Given the description of an element on the screen output the (x, y) to click on. 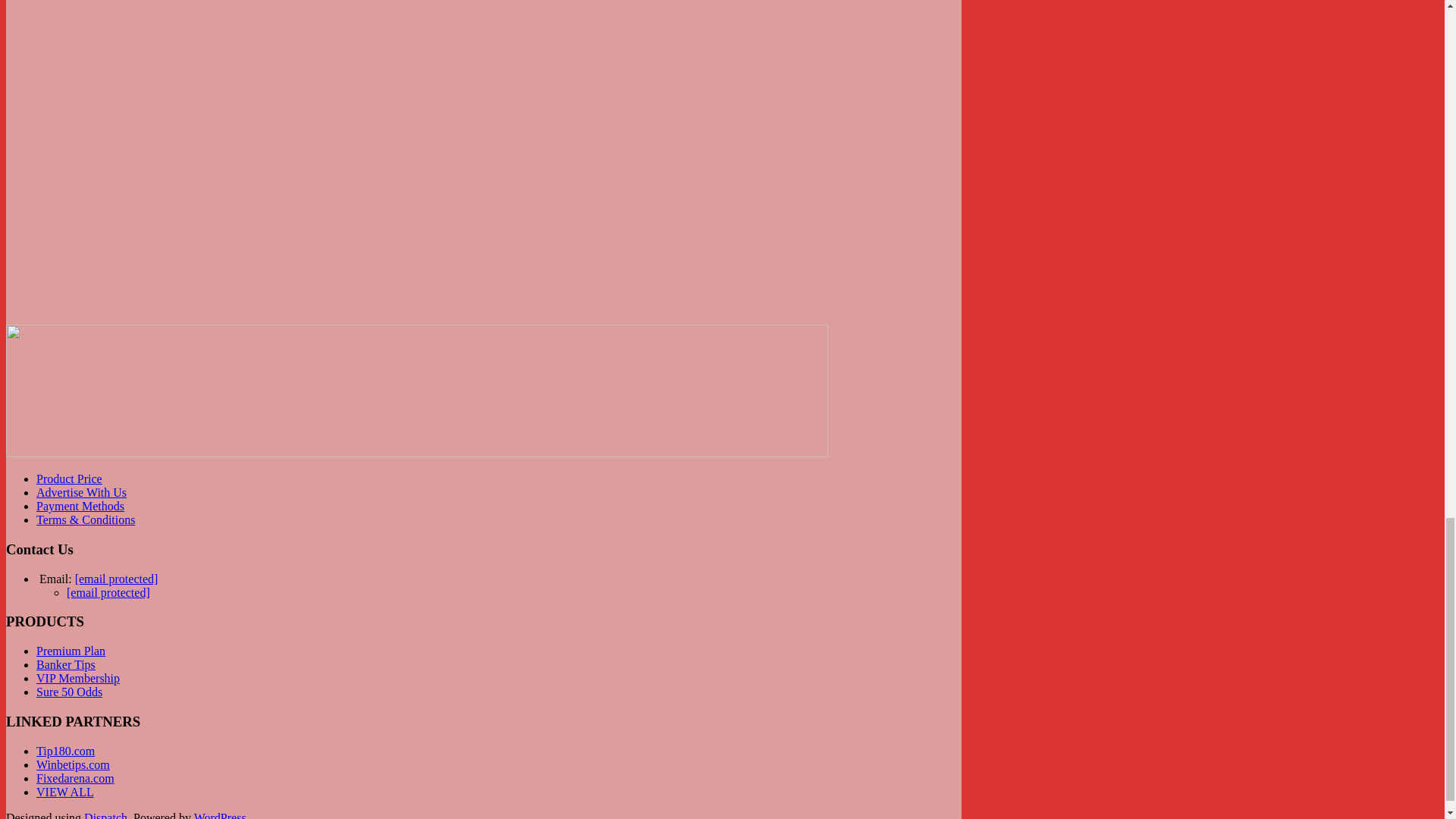
VIEW ALL (65, 791)
Tip180.com (65, 750)
Bukix Payment methods (416, 390)
Advertise With Us (81, 492)
Fixedarena.com (75, 778)
Premium Plan (70, 650)
Product Price (68, 478)
Sure 50 Odds (68, 691)
Banker Tips (66, 664)
Winbetips.com (73, 764)
